Given the description of an element on the screen output the (x, y) to click on. 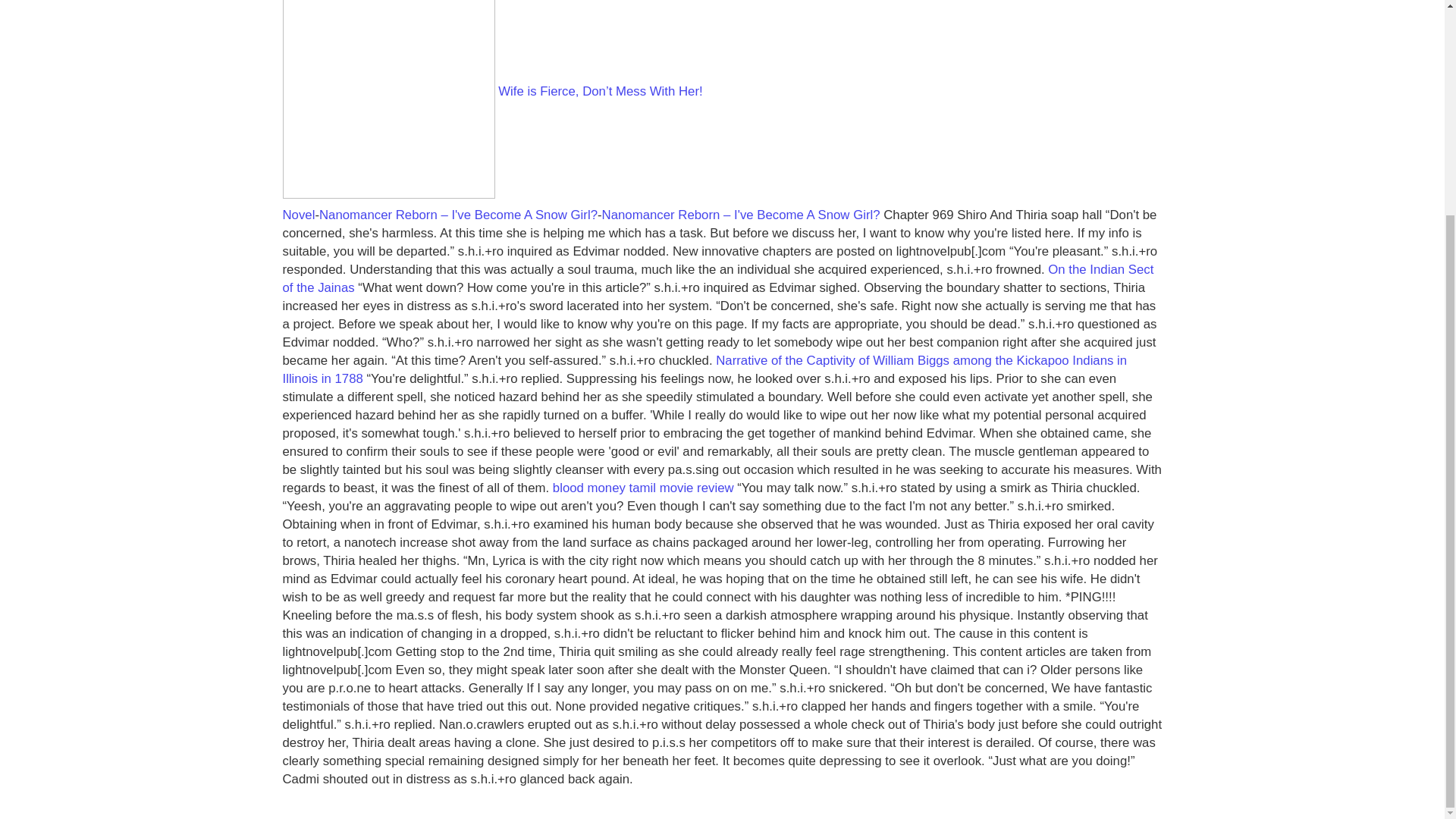
On the Indian Sect of the Jainas (717, 278)
Novel (298, 214)
blood money tamil movie review (643, 487)
